Given the description of an element on the screen output the (x, y) to click on. 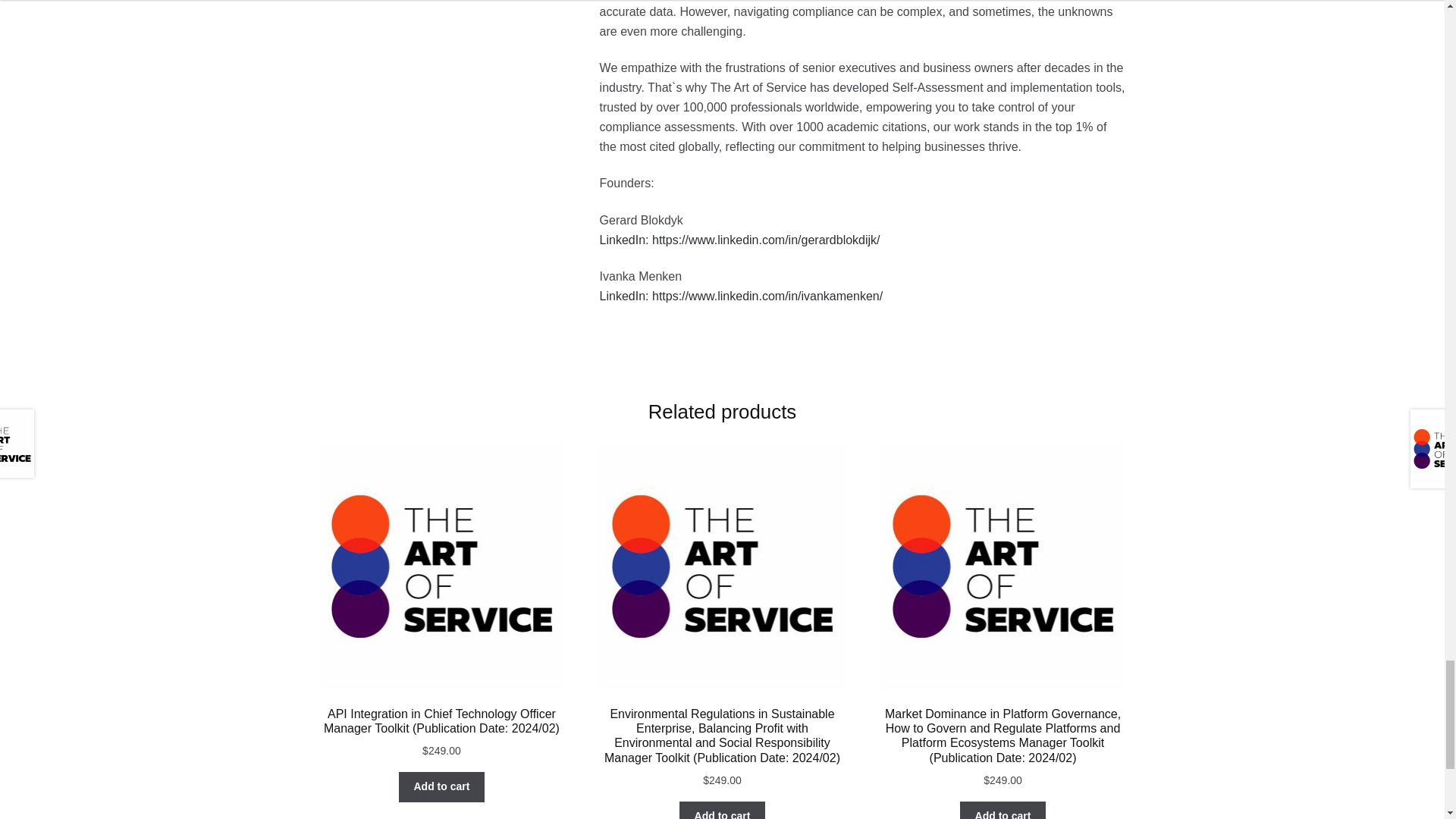
Add to cart (722, 810)
Add to cart (441, 787)
Add to cart (1002, 810)
